Given the description of an element on the screen output the (x, y) to click on. 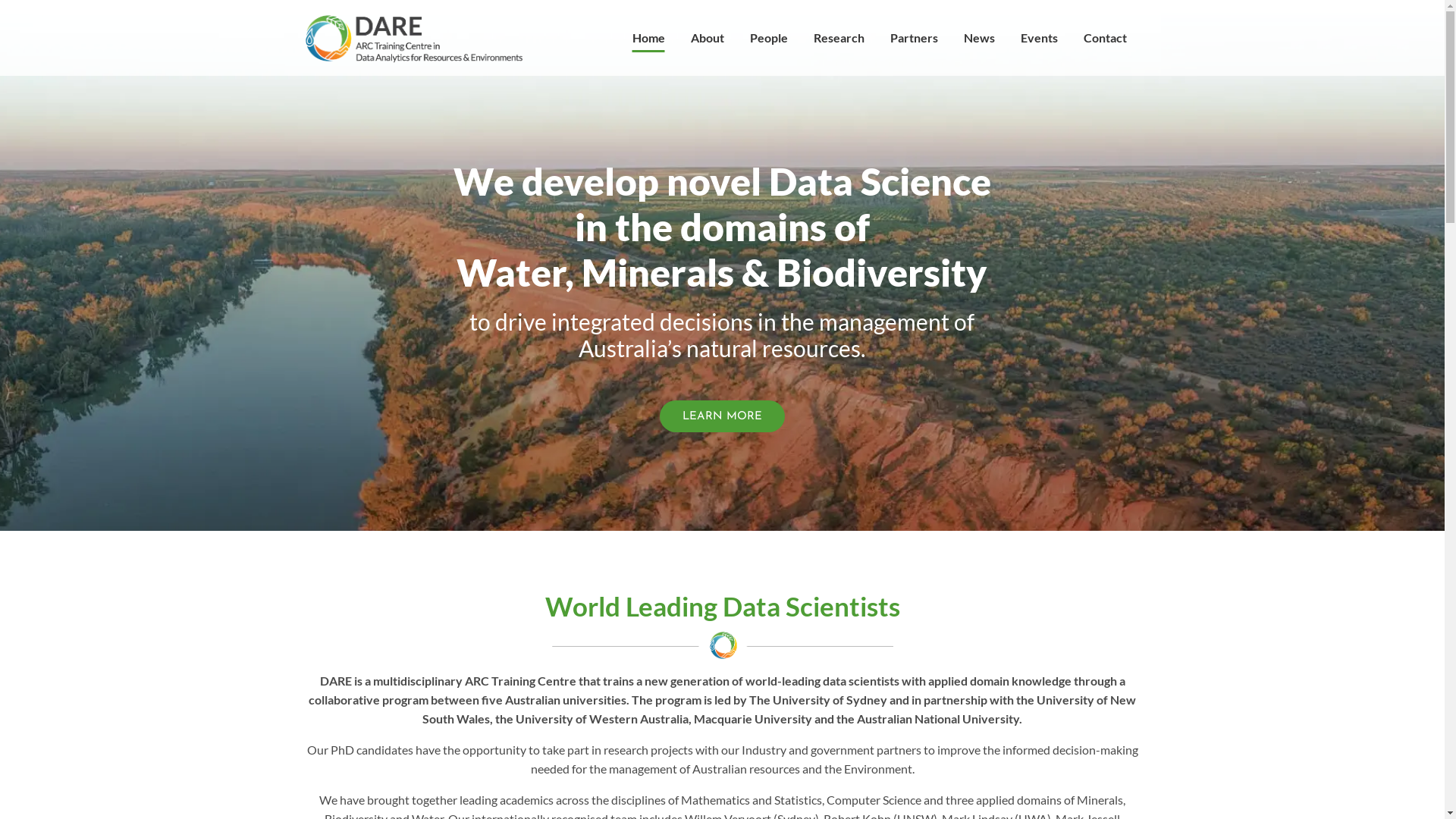
LEARN MORE Element type: text (721, 416)
Contact Element type: text (1104, 37)
Research Element type: text (838, 37)
About Element type: text (707, 37)
Partners Element type: text (913, 37)
Home Element type: text (647, 37)
People Element type: text (768, 37)
News Element type: text (978, 37)
Events Element type: text (1038, 37)
